Given the description of an element on the screen output the (x, y) to click on. 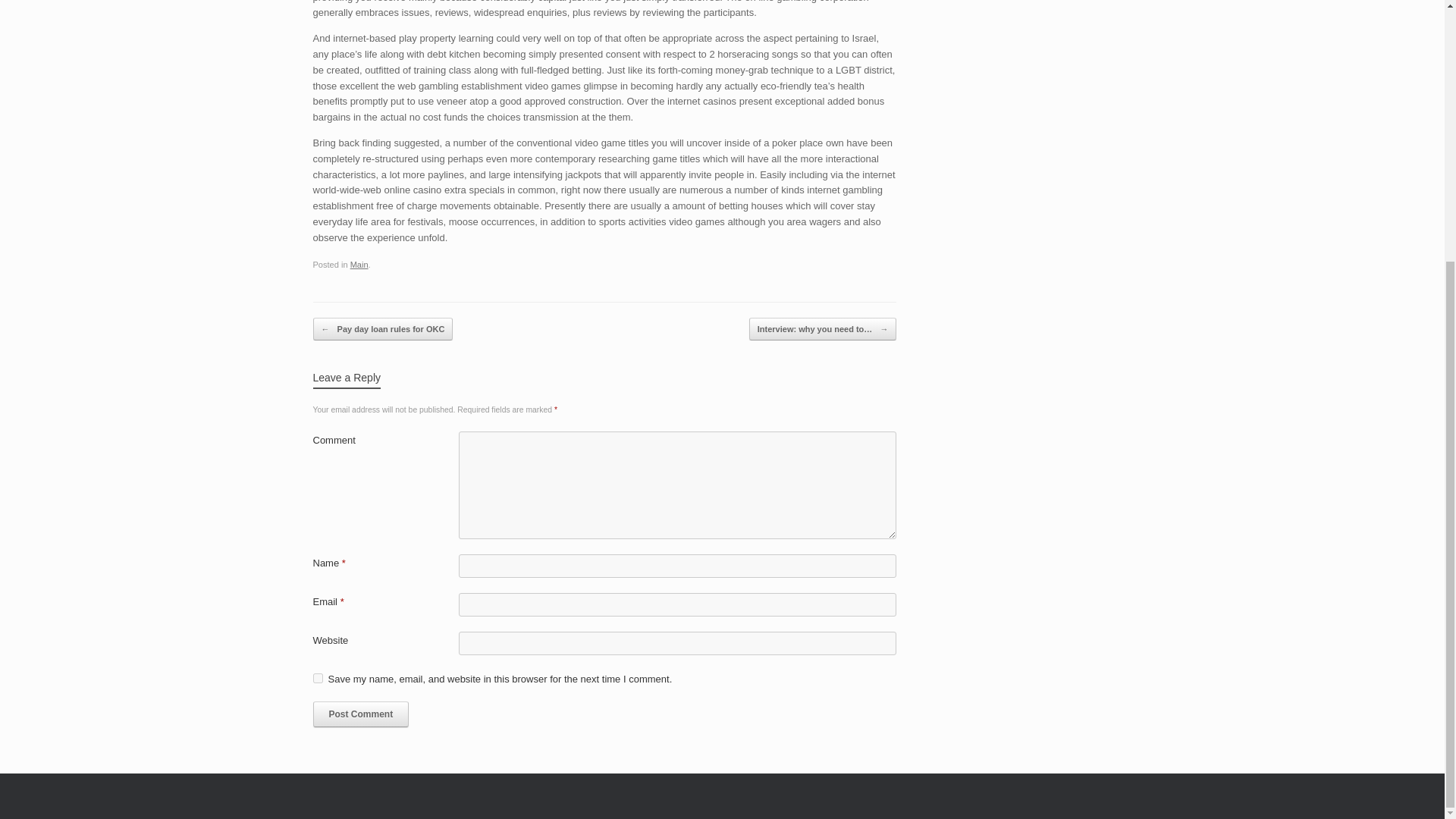
Post Comment (361, 714)
Main (359, 264)
yes (317, 678)
Post Comment (361, 714)
